Given the description of an element on the screen output the (x, y) to click on. 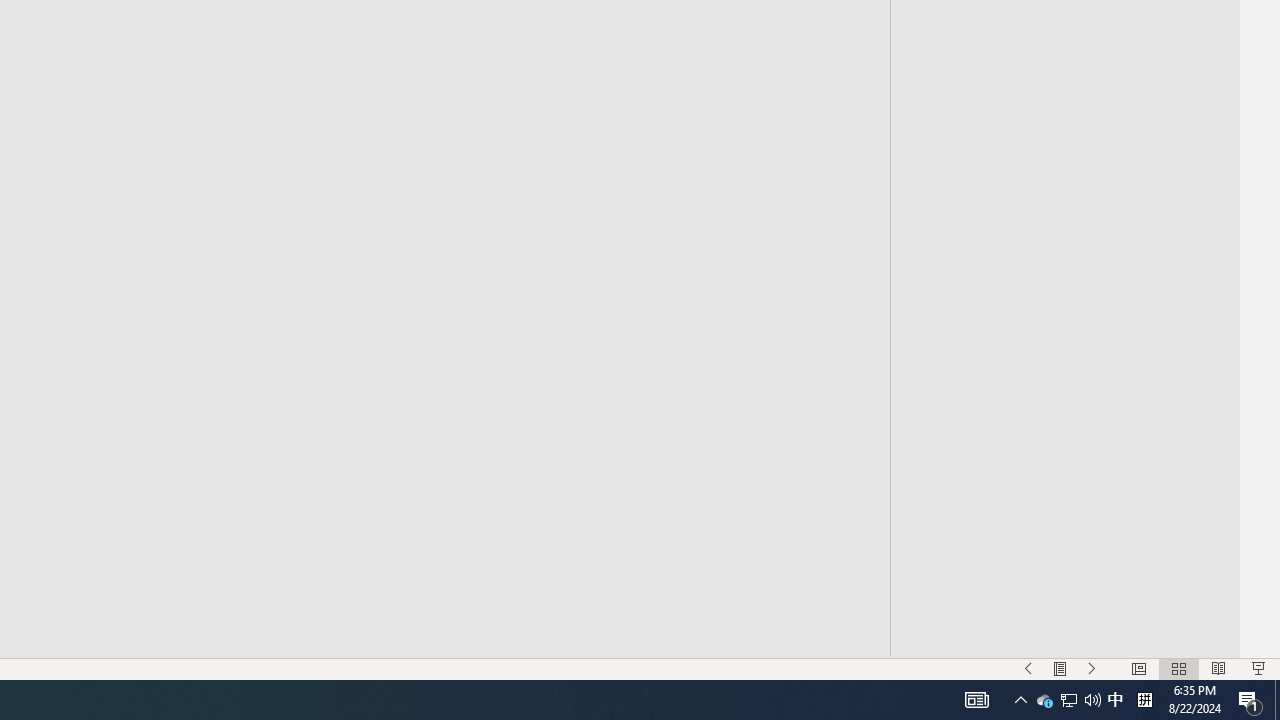
Slide Show Previous On (1028, 668)
Menu On (1060, 668)
Slide Show Next On (1092, 668)
